Given the description of an element on the screen output the (x, y) to click on. 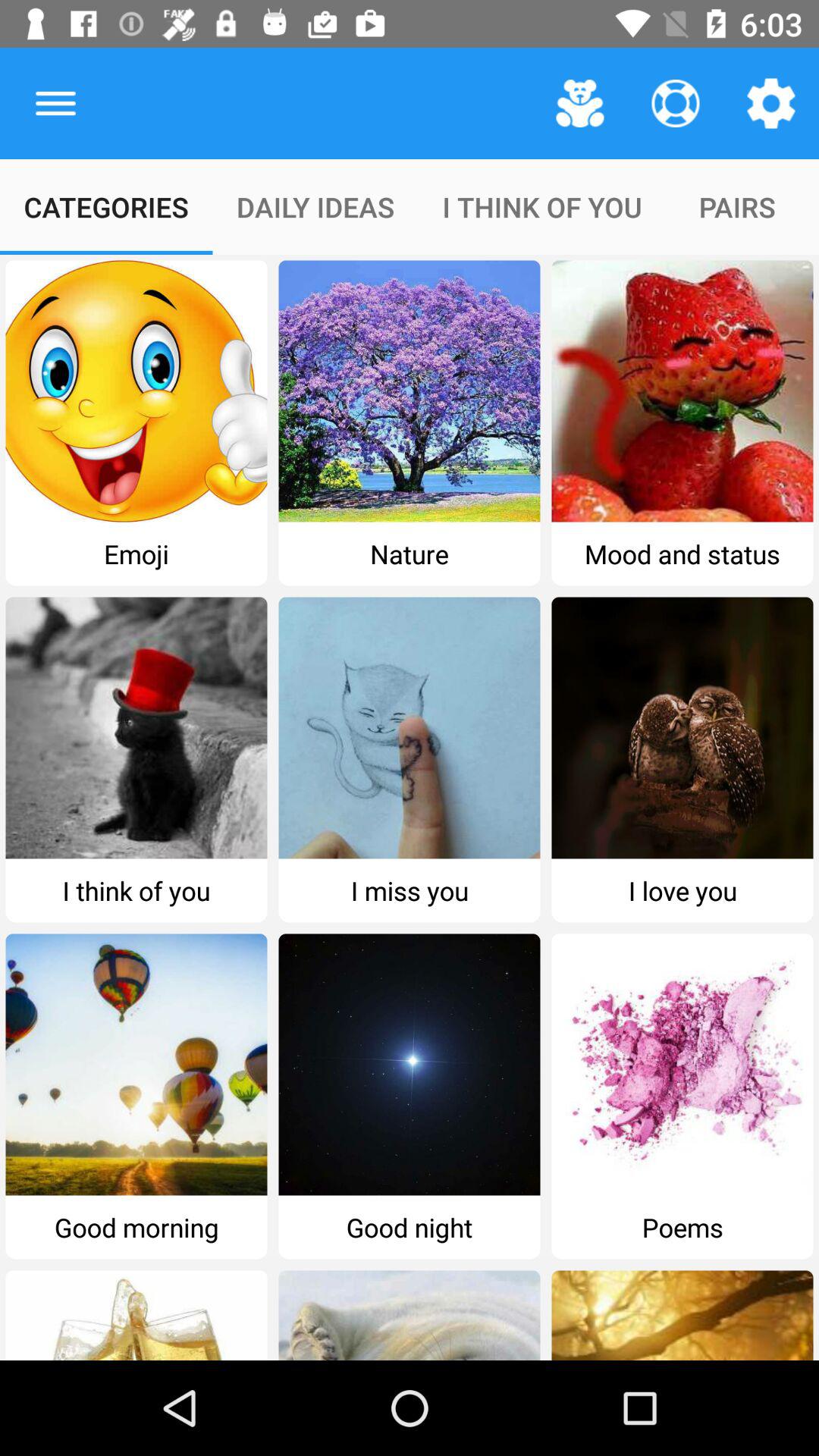
click the item above the i think of item (675, 103)
